Given the description of an element on the screen output the (x, y) to click on. 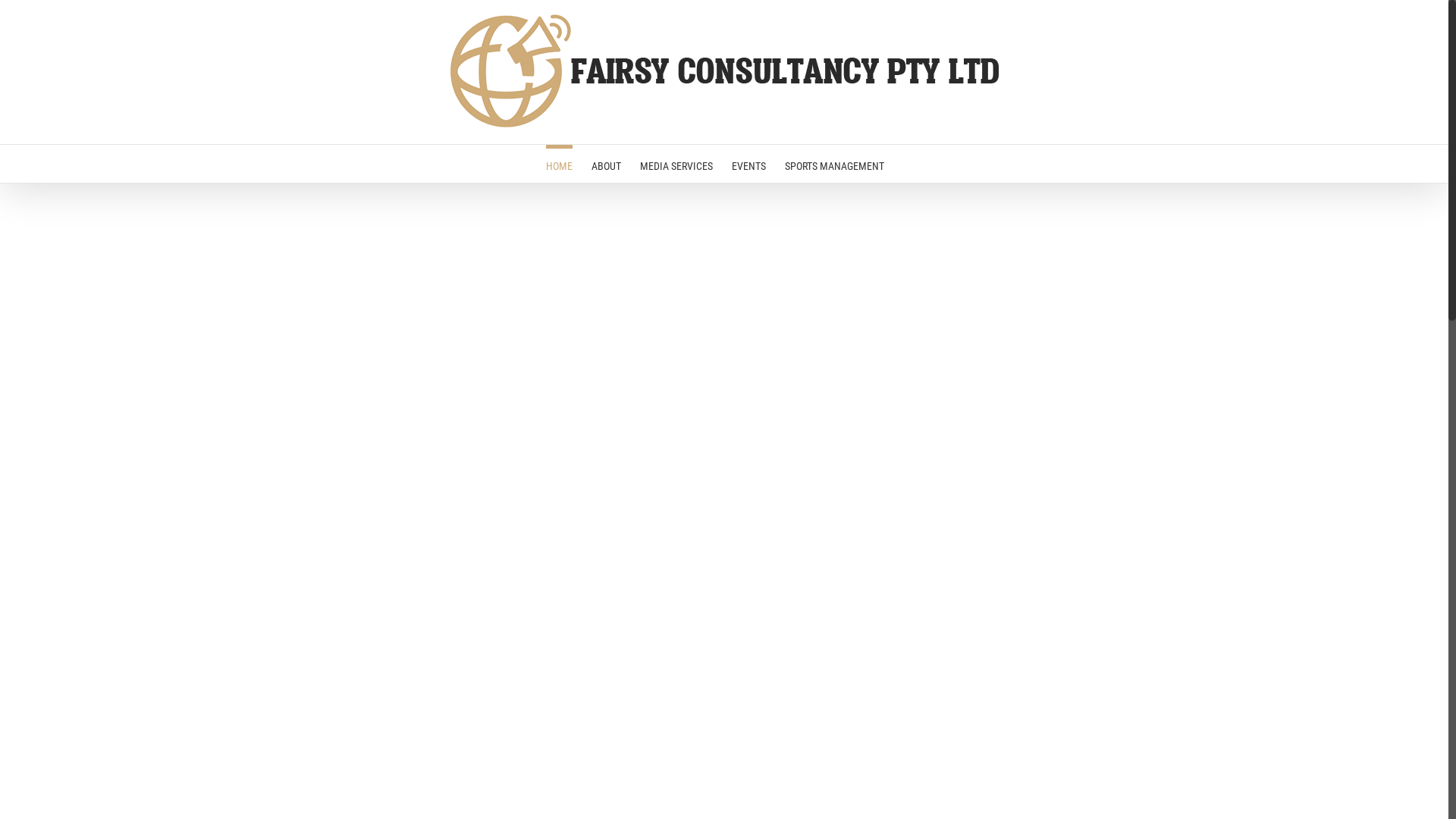
MEDIA SERVICES Element type: text (676, 163)
HOME Element type: text (559, 163)
SPORTS MANAGEMENT Element type: text (833, 163)
EVENTS Element type: text (748, 163)
ABOUT Element type: text (606, 163)
